Given the description of an element on the screen output the (x, y) to click on. 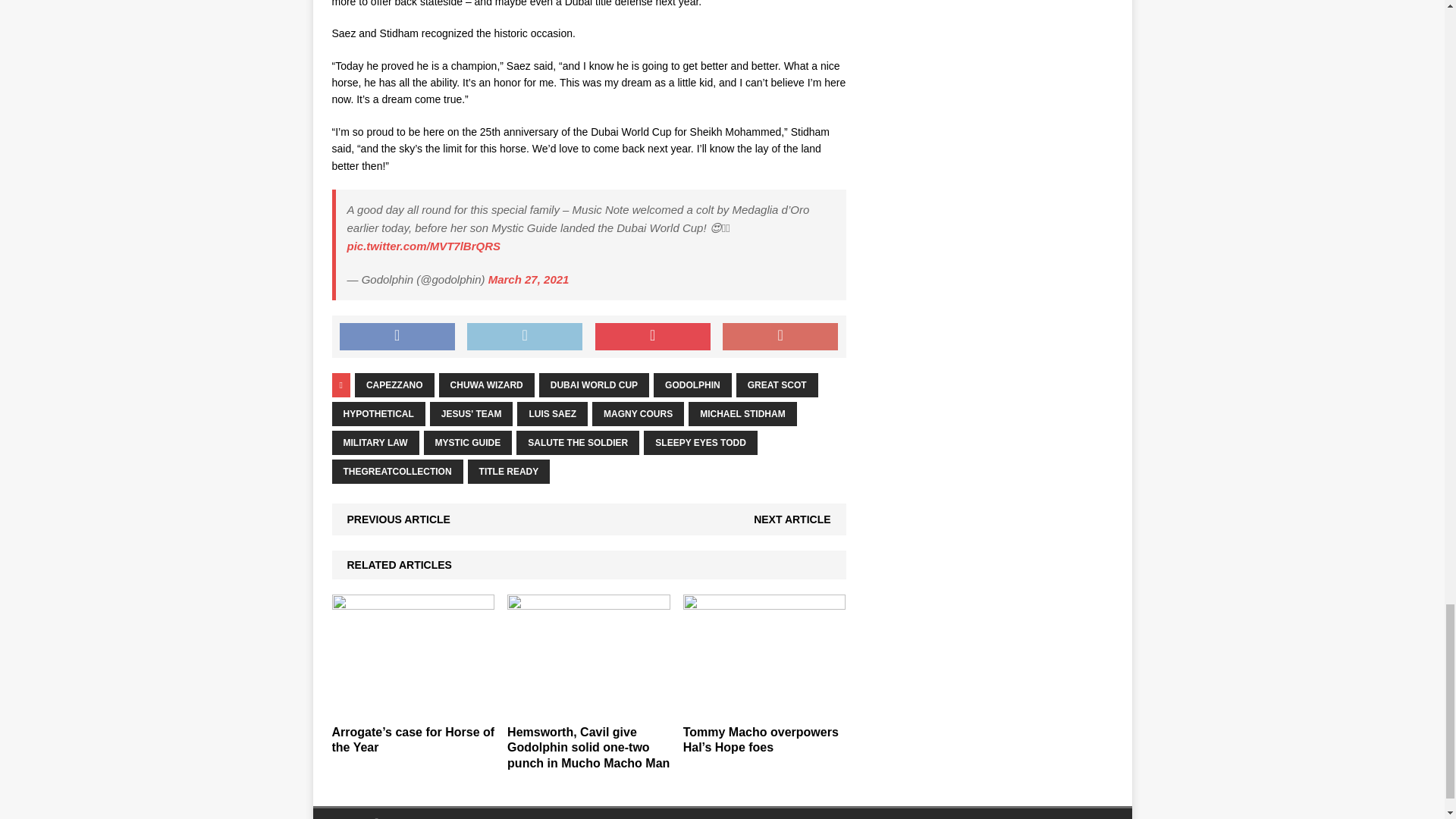
Pin This Post (652, 336)
Tweet This Post (524, 336)
Share on Facebook (396, 336)
